Given the description of an element on the screen output the (x, y) to click on. 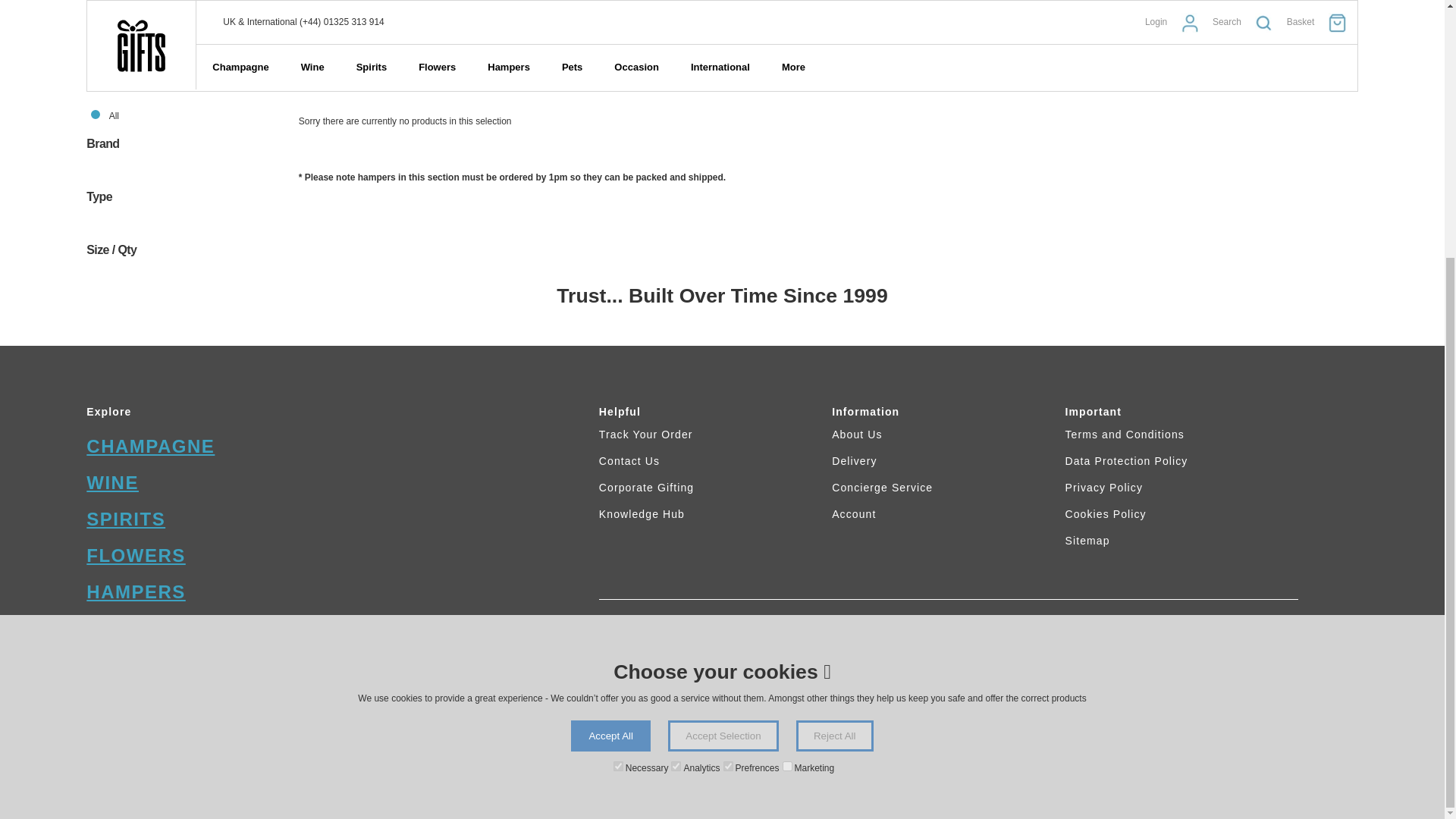
Prefrences (728, 398)
Necessary (617, 398)
Analytics (676, 398)
Marketing (787, 398)
